Given the description of an element on the screen output the (x, y) to click on. 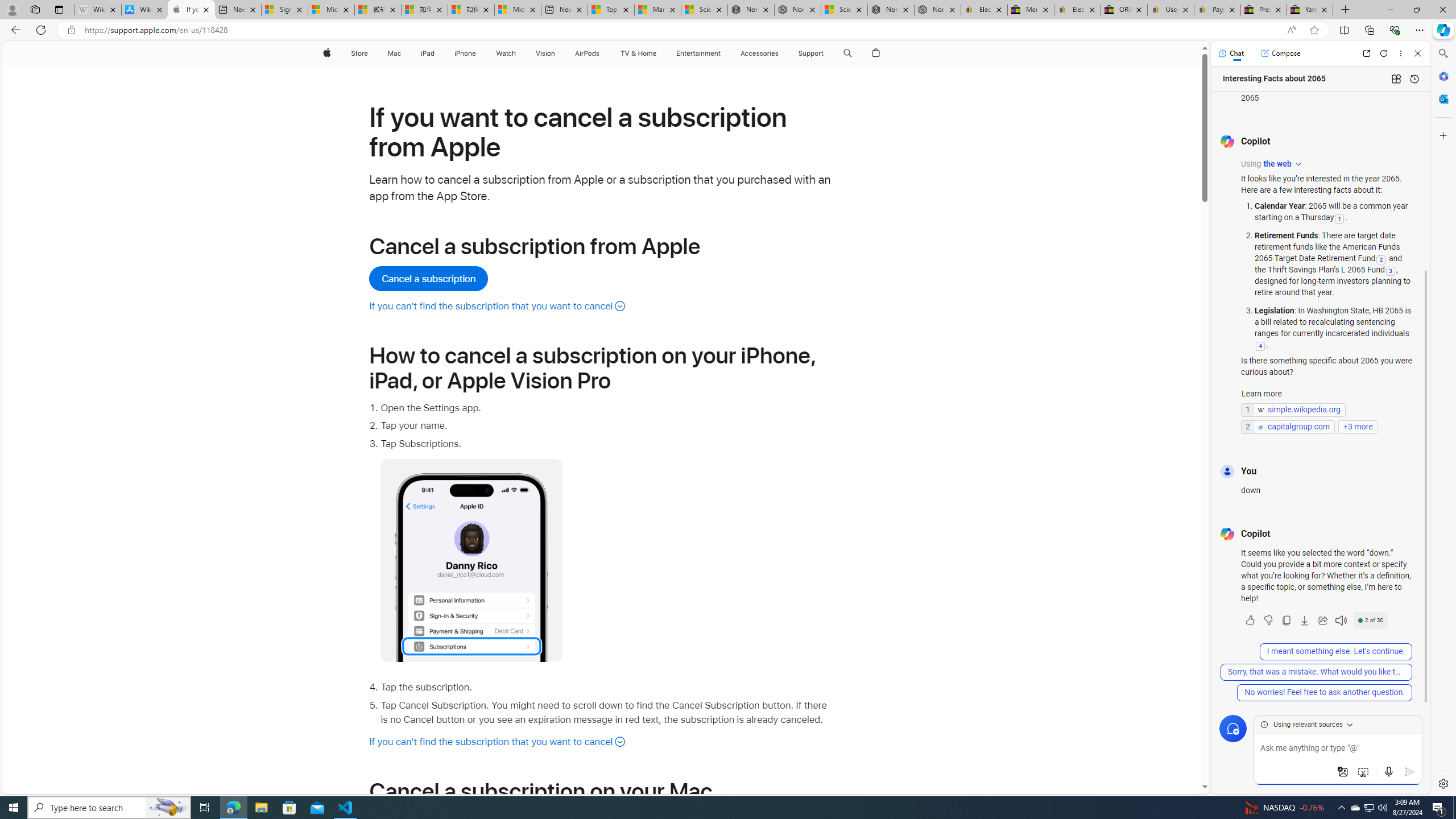
Mac menu (402, 53)
TV and Home menu (658, 53)
Accessories (759, 53)
Cancel a subscription (429, 278)
